Given the description of an element on the screen output the (x, y) to click on. 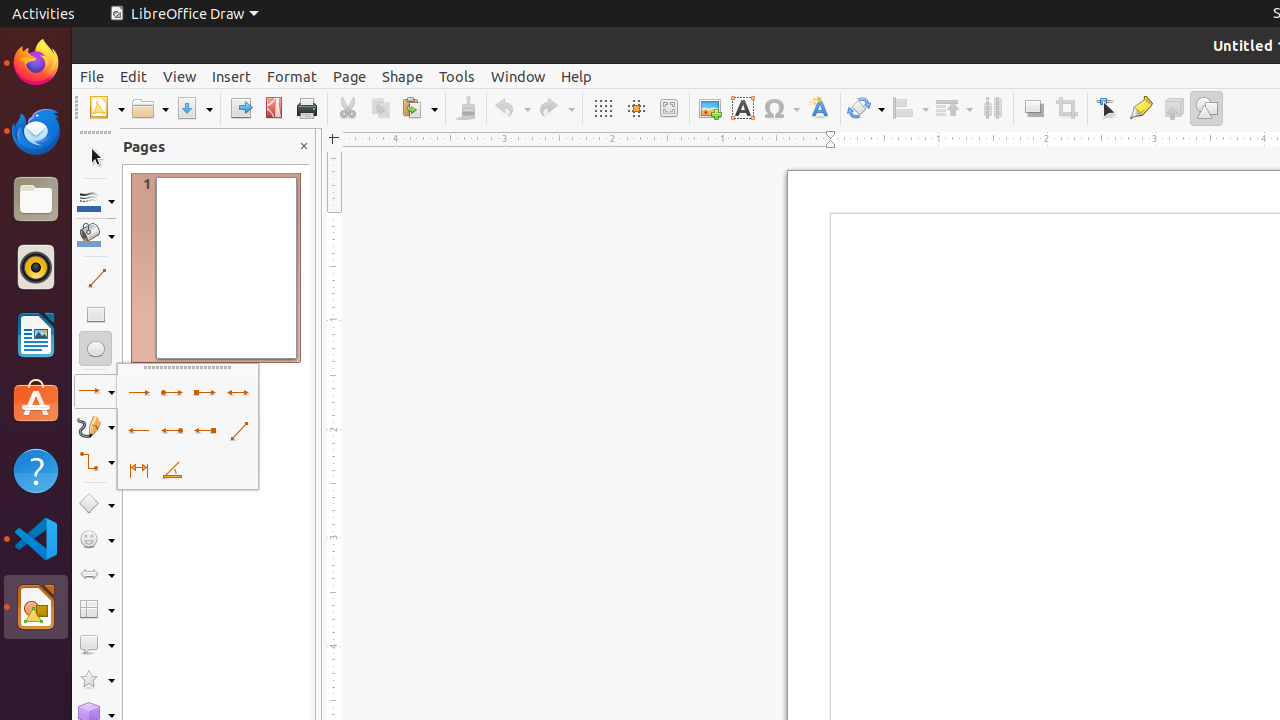
LibreOffice Draw Element type: push-button (36, 607)
LibreOffice Draw Element type: menu (183, 13)
Toggle Extrusion Element type: push-button (1173, 108)
Redo Element type: push-button (556, 108)
Edit Points Element type: push-button (1107, 108)
